Given the description of an element on the screen output the (x, y) to click on. 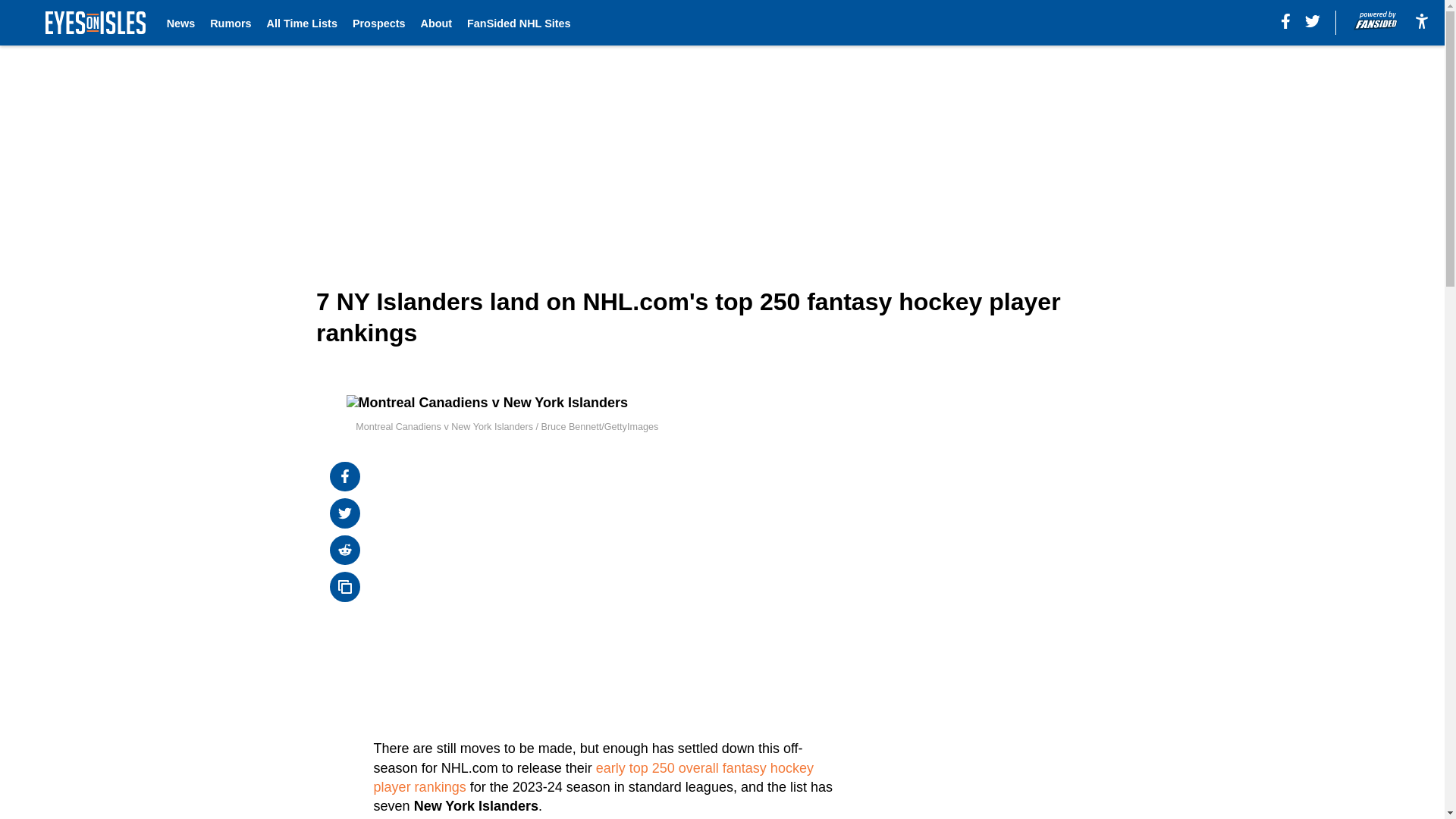
News (181, 23)
early top 250 overall fantasy hockey player rankings (593, 777)
Prospects (379, 23)
About (435, 23)
FanSided NHL Sites (518, 23)
Rumors (229, 23)
All Time Lists (301, 23)
